Given the description of an element on the screen output the (x, y) to click on. 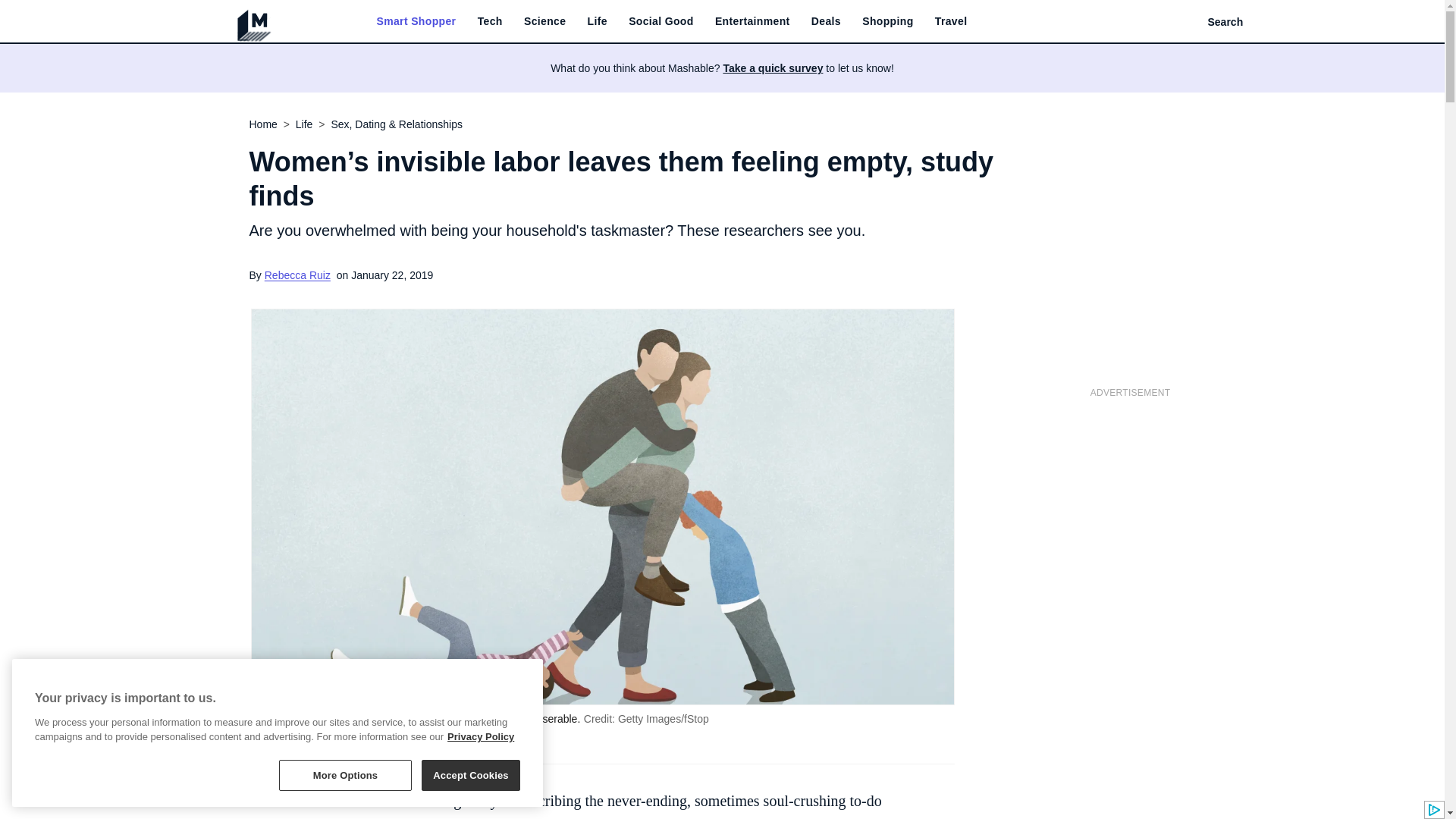
Shopping (886, 21)
Entertainment (752, 21)
Science (545, 21)
Deals (825, 21)
Travel (951, 21)
Social Good (661, 21)
Tech (489, 21)
Life (597, 21)
Smart Shopper (415, 21)
